Given the description of an element on the screen output the (x, y) to click on. 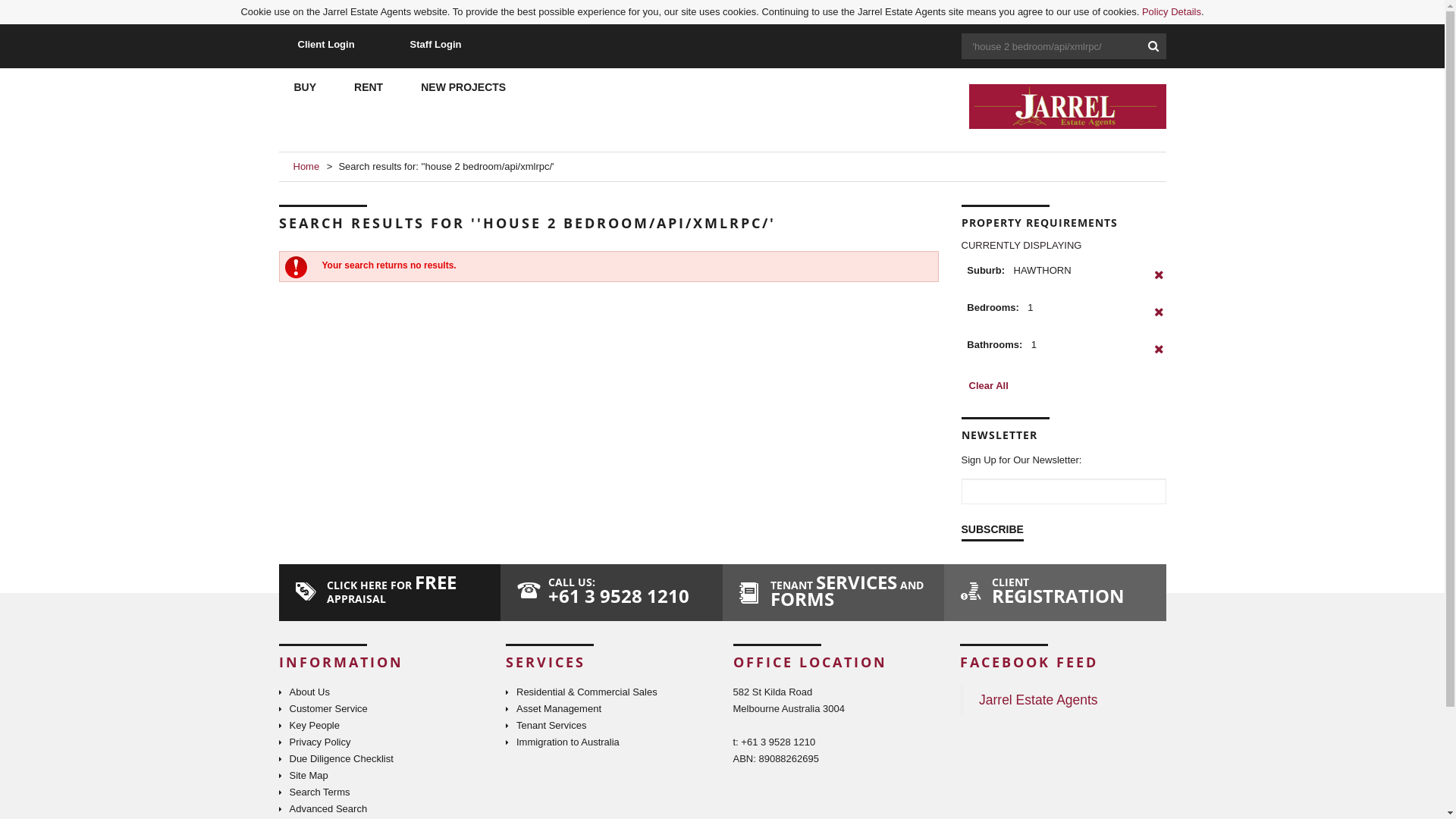
Policy Details Element type: text (1171, 11)
Remove This Item Element type: text (1159, 282)
Due Diligence Checklist Element type: text (336, 758)
NEW PROJECTS Element type: text (462, 88)
Customer Service Element type: text (323, 708)
Sign up for our newsletter Element type: hover (1063, 491)
CALL US:
+61 3 9528 1210 Element type: text (611, 592)
CLICK HERE FOR FREE APPRAISAL Element type: text (390, 592)
CLIENT
REGISTRATION Element type: text (1055, 592)
RENT Element type: text (368, 88)
Immigration to Australia Element type: text (562, 742)
Site Map Element type: text (303, 775)
Tenant Services Element type: text (545, 725)
Advanced Search Element type: text (323, 808)
BUY Element type: text (305, 88)
Key People Element type: text (309, 725)
About Us Element type: text (304, 692)
Client Login Element type: text (326, 46)
Remove This Item Element type: text (1159, 356)
Staff Login Element type: text (435, 46)
Jarrel Estate Agents Element type: text (1038, 699)
Clear All Element type: text (988, 385)
Asset Management Element type: text (553, 708)
TENANT SERVICES AND FORMS Element type: text (832, 592)
Home Element type: text (305, 166)
Search Element type: hover (1153, 45)
SUBSCRIBE Element type: text (992, 529)
Privacy Policy Element type: text (315, 742)
Remove This Item Element type: text (1159, 319)
Jarrel Estate Agents Element type: hover (1014, 106)
Search Terms Element type: text (314, 792)
Residential & Commercial Sales Element type: text (581, 692)
